Given the description of an element on the screen output the (x, y) to click on. 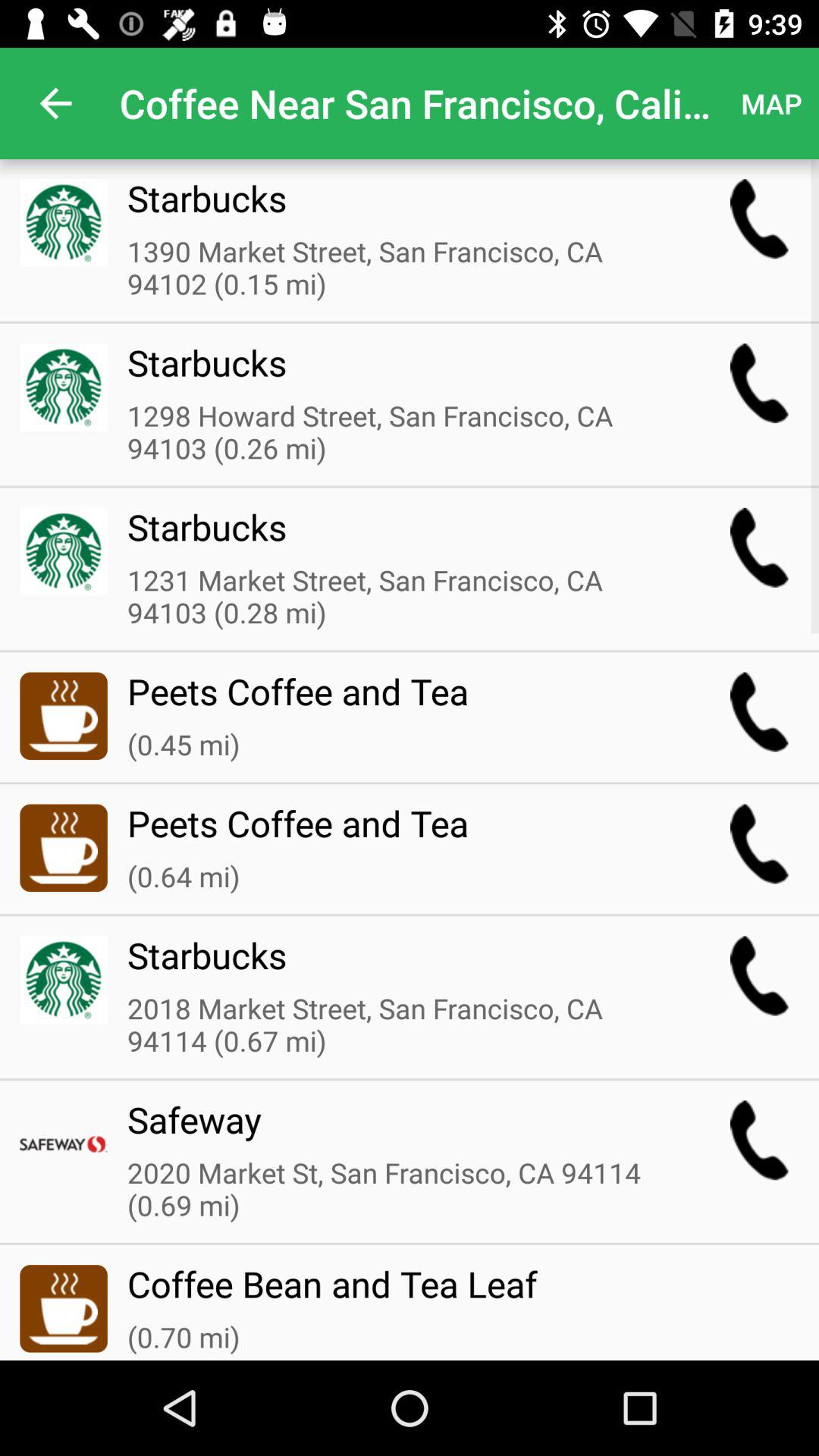
tap the app next to the coffee near san (55, 103)
